Given the description of an element on the screen output the (x, y) to click on. 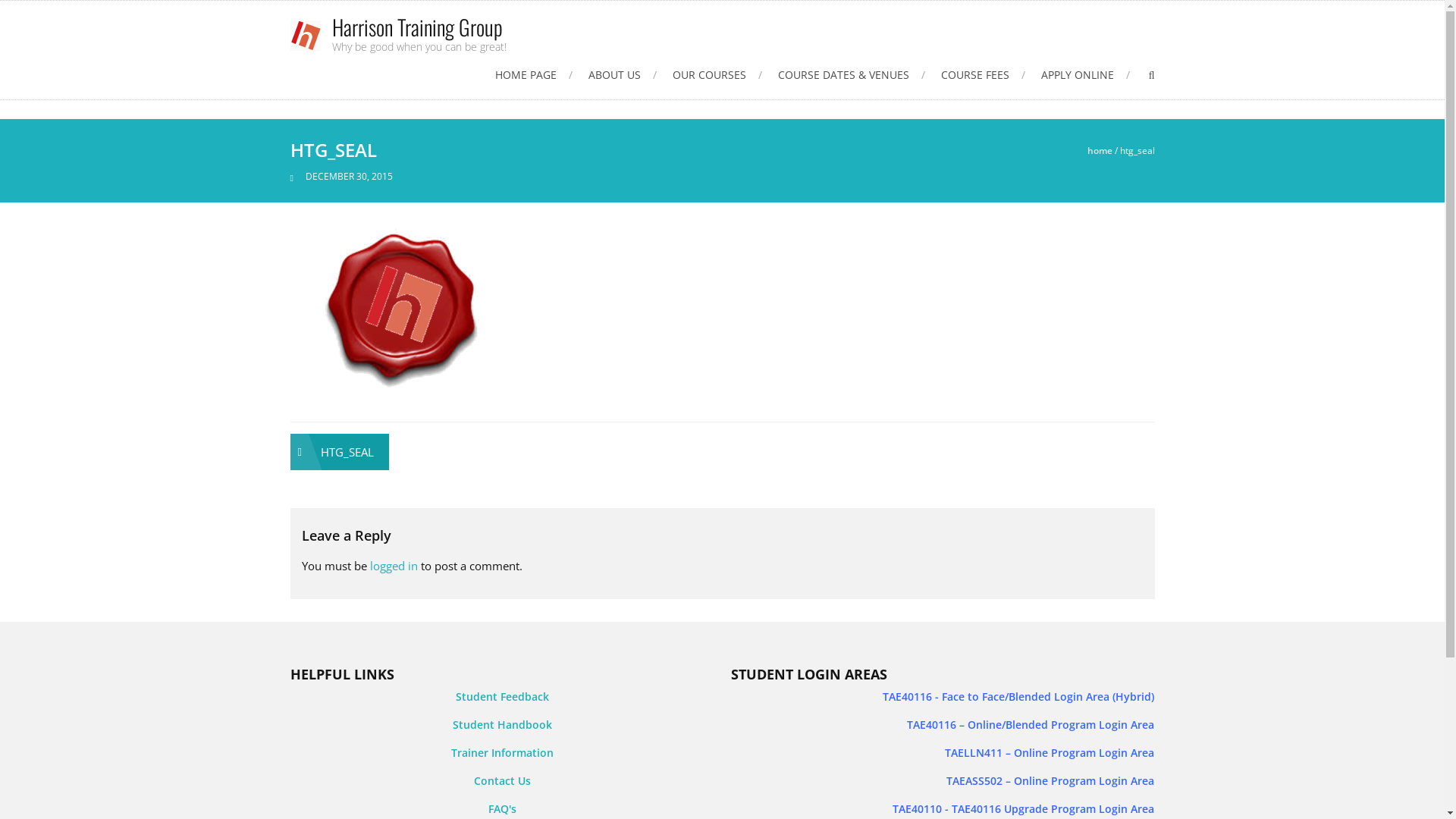
home Element type: text (1099, 150)
HTG_SEAL Element type: text (338, 451)
Student Handbook Element type: text (502, 724)
Student Feedback Element type: text (502, 696)
APPLY ONLINE Element type: text (1085, 74)
DECEMBER 30, 2015 Element type: text (348, 175)
OUR COURSES Element type: text (717, 74)
logged in Element type: text (393, 565)
HOME PAGE Element type: text (533, 74)
Harrison Training Group
Why be good when you can be great! Element type: text (419, 33)
TAE40116 - Face to Face/Blended Login Area (Hybrid) Element type: text (1018, 696)
TAE40110 - TAE40116 Upgrade Program Login Area Element type: text (1023, 808)
ABOUT US Element type: text (622, 74)
COURSE FEES Element type: text (983, 74)
COURSE DATES & VENUES Element type: text (851, 74)
Trainer Information Element type: text (502, 752)
Contact Us Element type: text (501, 780)
FAQ's Element type: text (502, 808)
